Given the description of an element on the screen output the (x, y) to click on. 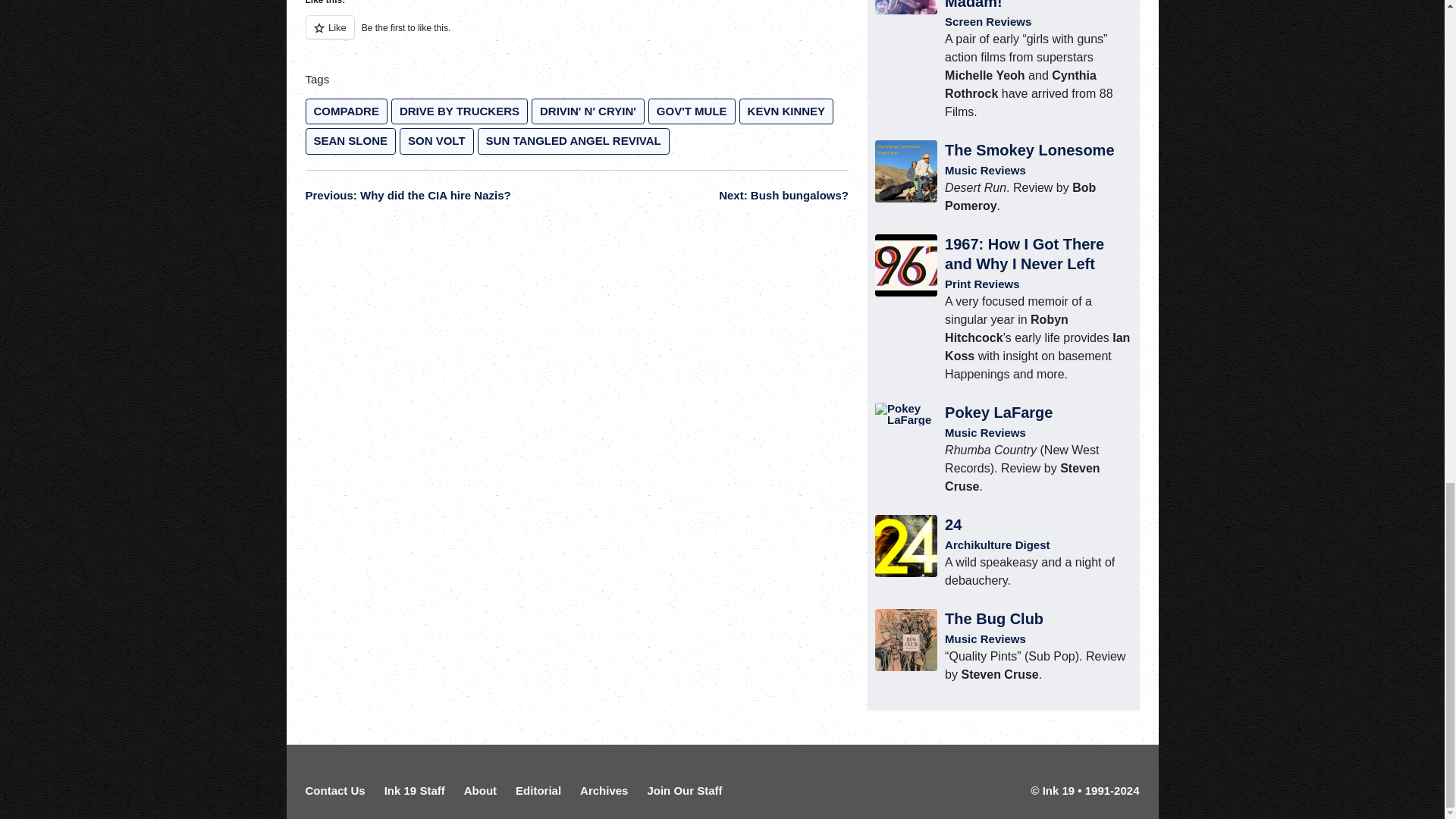
Like or Reblog (575, 35)
